Given the description of an element on the screen output the (x, y) to click on. 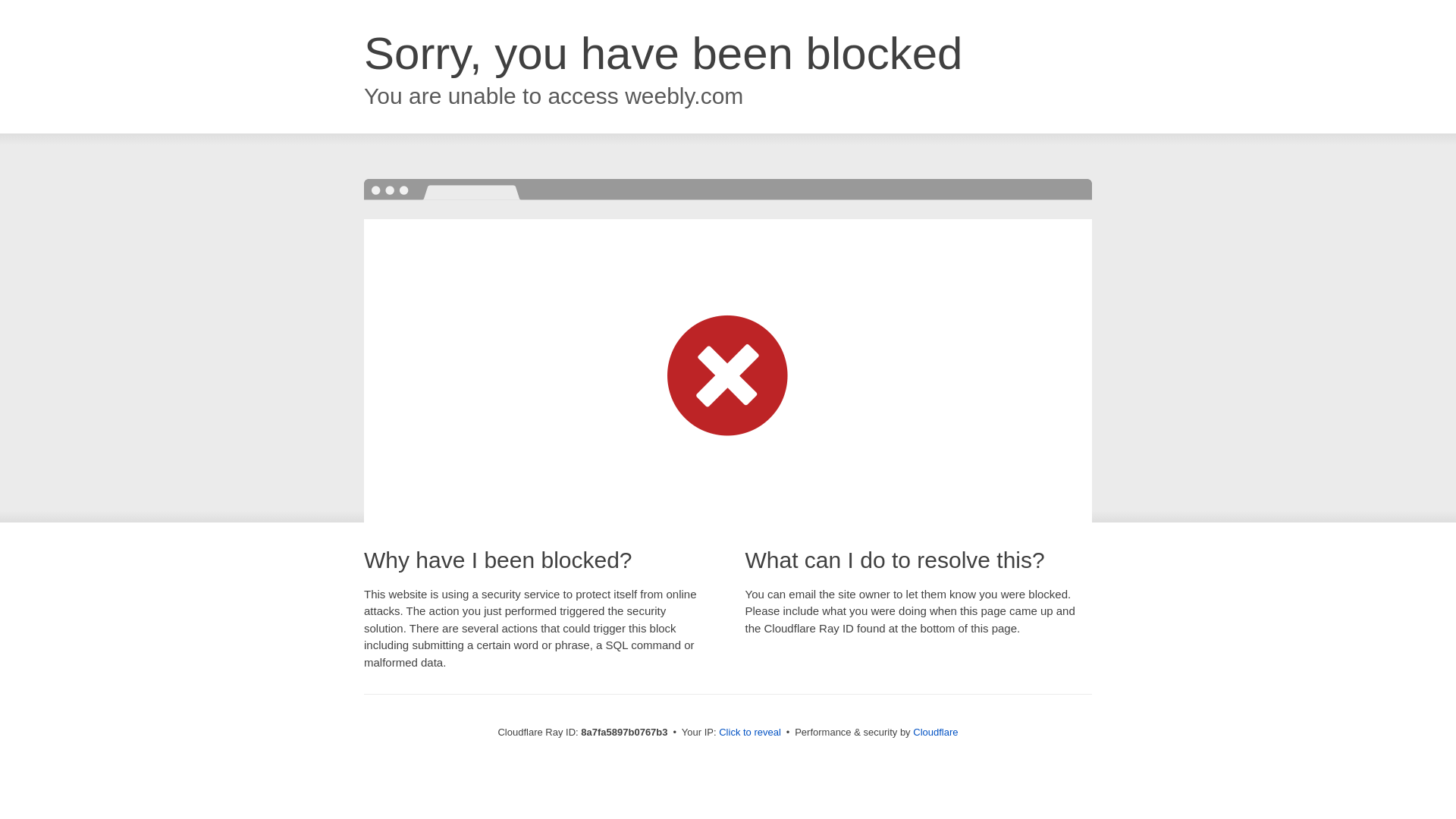
Click to reveal (749, 732)
Cloudflare (935, 731)
